Given the description of an element on the screen output the (x, y) to click on. 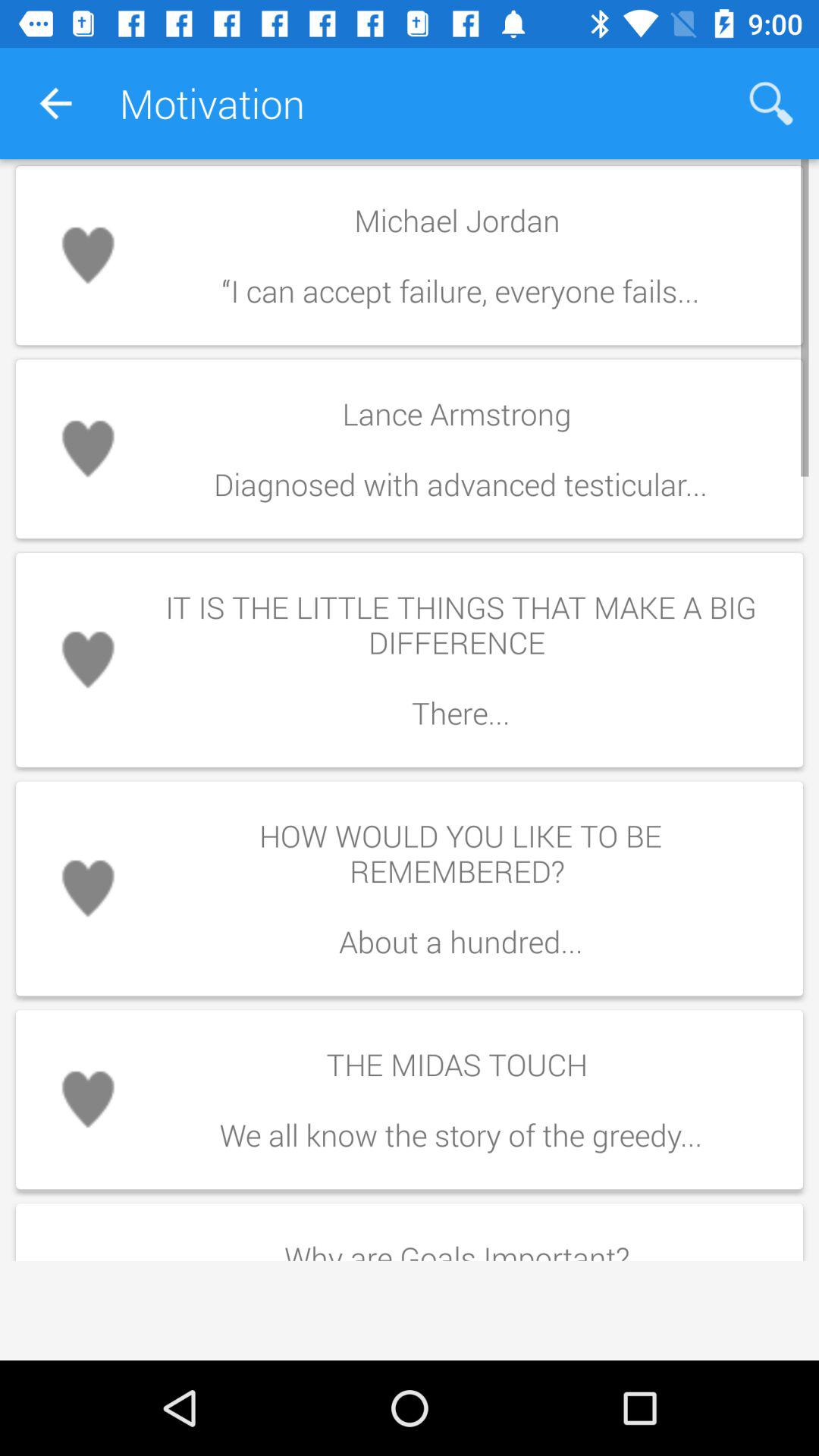
turn off how would you icon (460, 888)
